Given the description of an element on the screen output the (x, y) to click on. 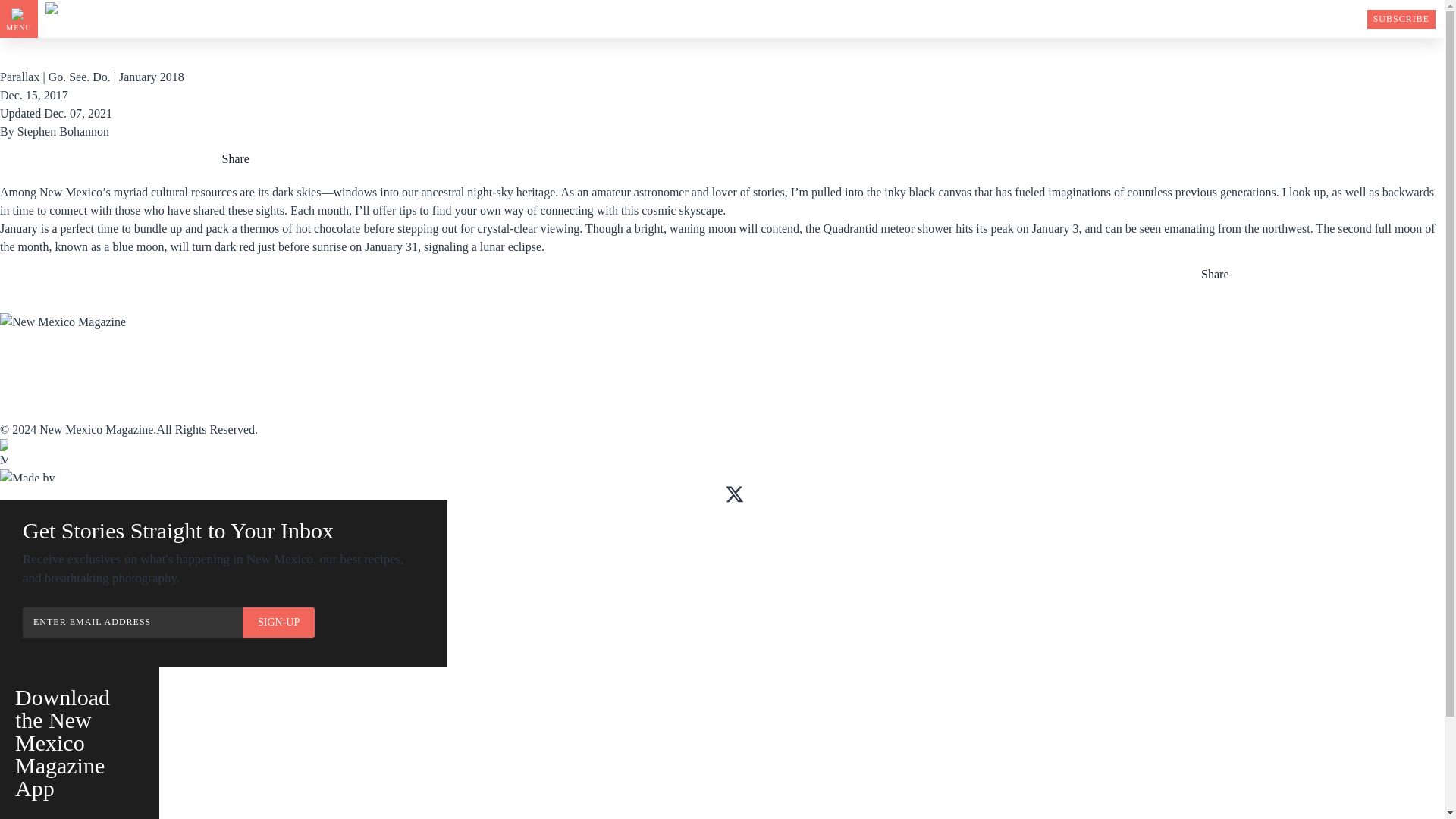
Store (598, 360)
Advertise (464, 360)
Sitemap (312, 394)
Visit our Twitter page (734, 494)
Contact Us (32, 410)
Subscribe (28, 360)
Privacy Policy (333, 410)
App (154, 360)
MENU (18, 18)
Archive (313, 360)
